Given the description of an element on the screen output the (x, y) to click on. 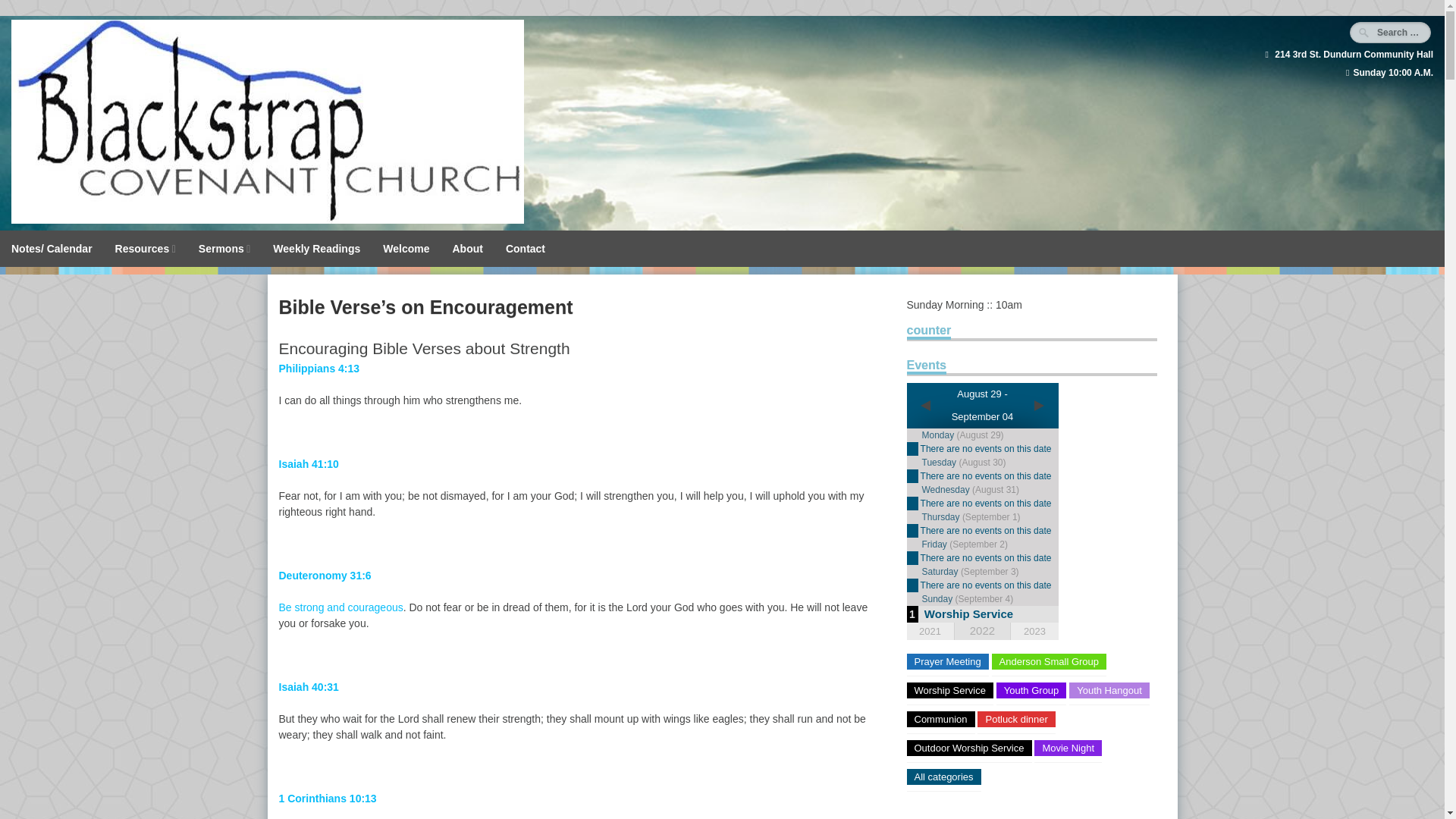
Search (28, 12)
Blackstrap Covenant Church (267, 219)
Contact (525, 248)
Weekly Readings (316, 248)
Sermons (224, 248)
About (467, 248)
Welcome (406, 248)
Resources (145, 248)
